Given the description of an element on the screen output the (x, y) to click on. 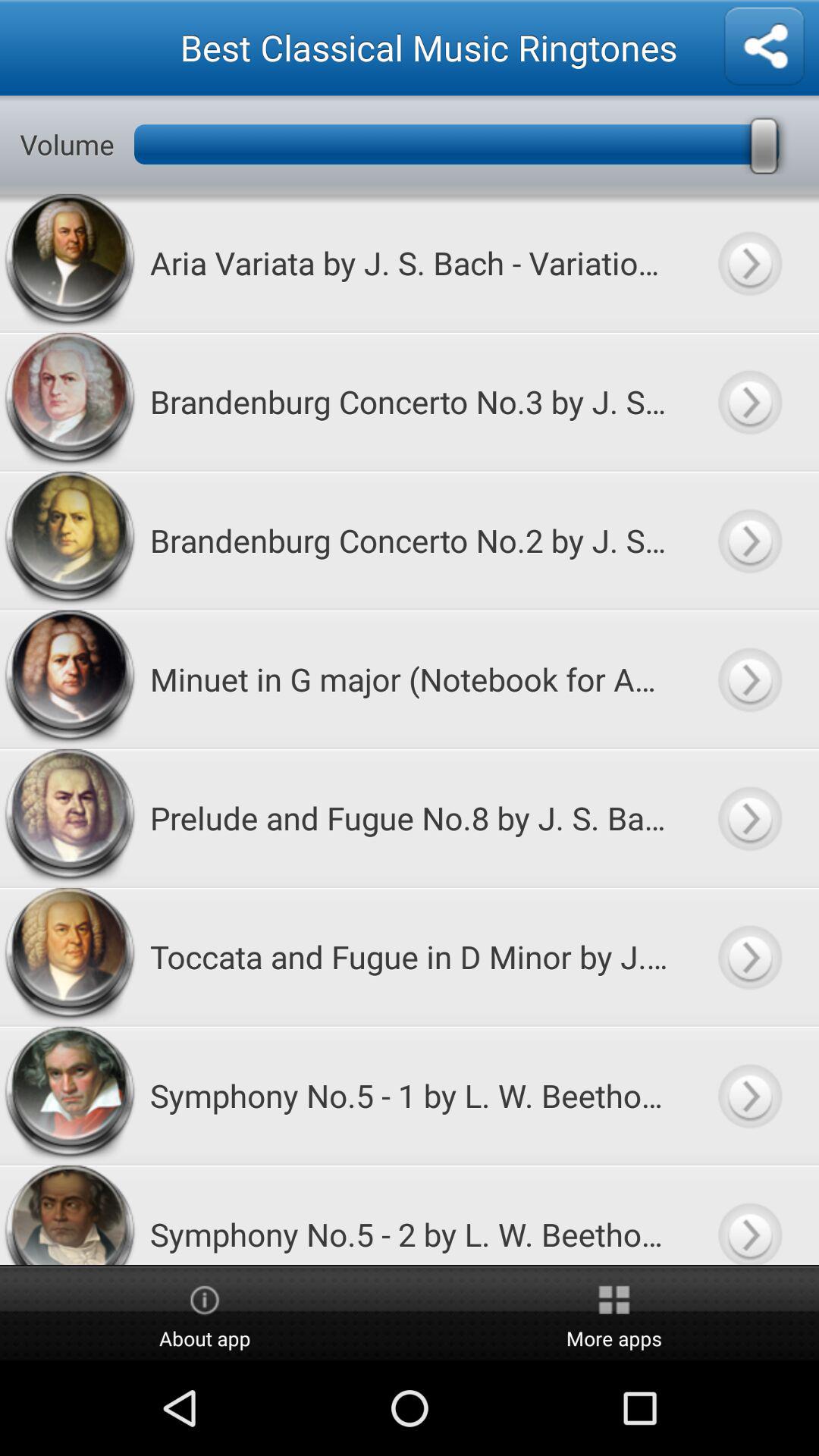
next process (749, 401)
